Given the description of an element on the screen output the (x, y) to click on. 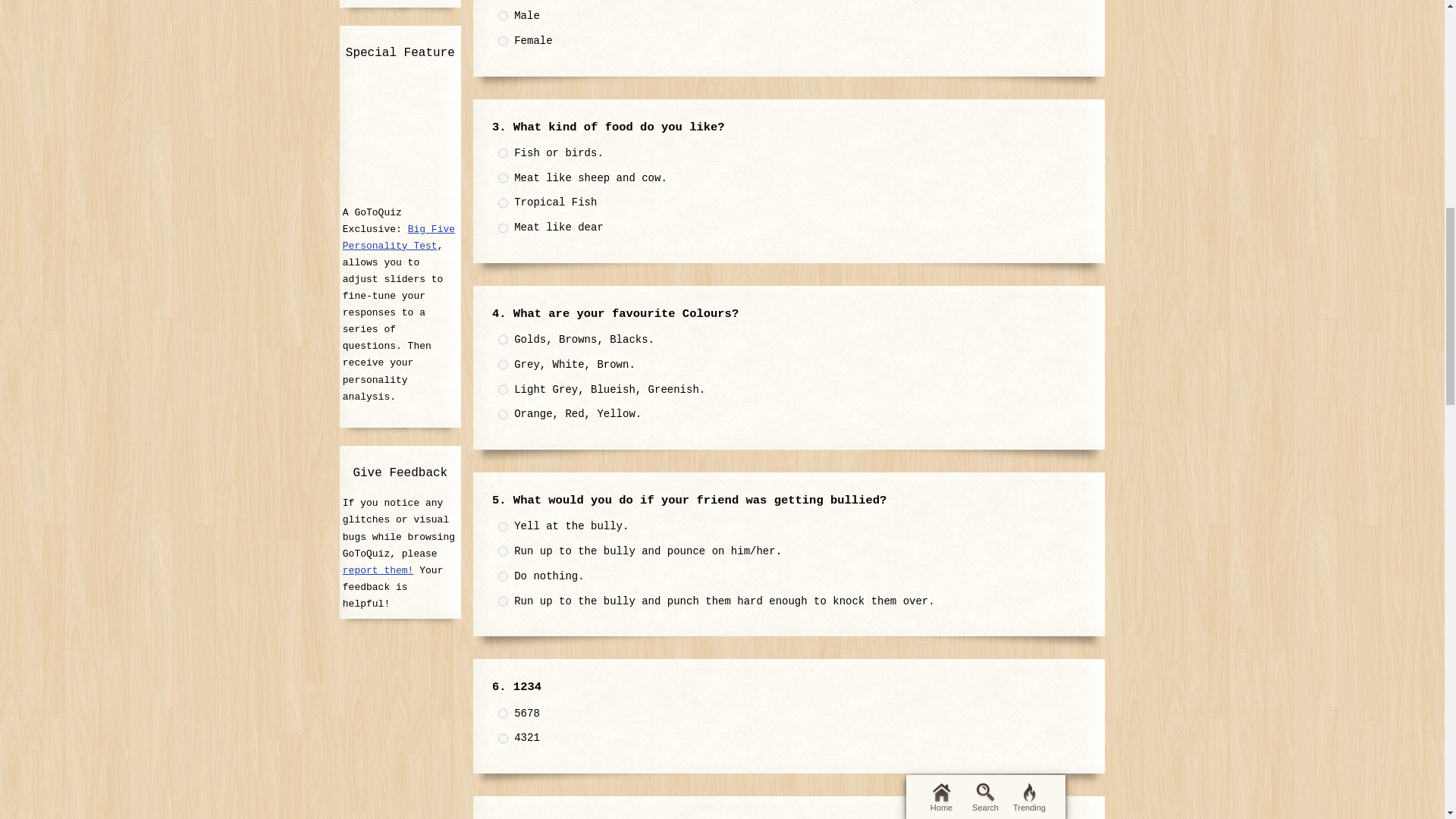
4 (502, 227)
1 (502, 526)
2 (502, 551)
1 (502, 339)
3 (502, 575)
1 (502, 153)
3 (502, 203)
3 (502, 389)
report them! (377, 570)
4 (502, 414)
